Given the description of an element on the screen output the (x, y) to click on. 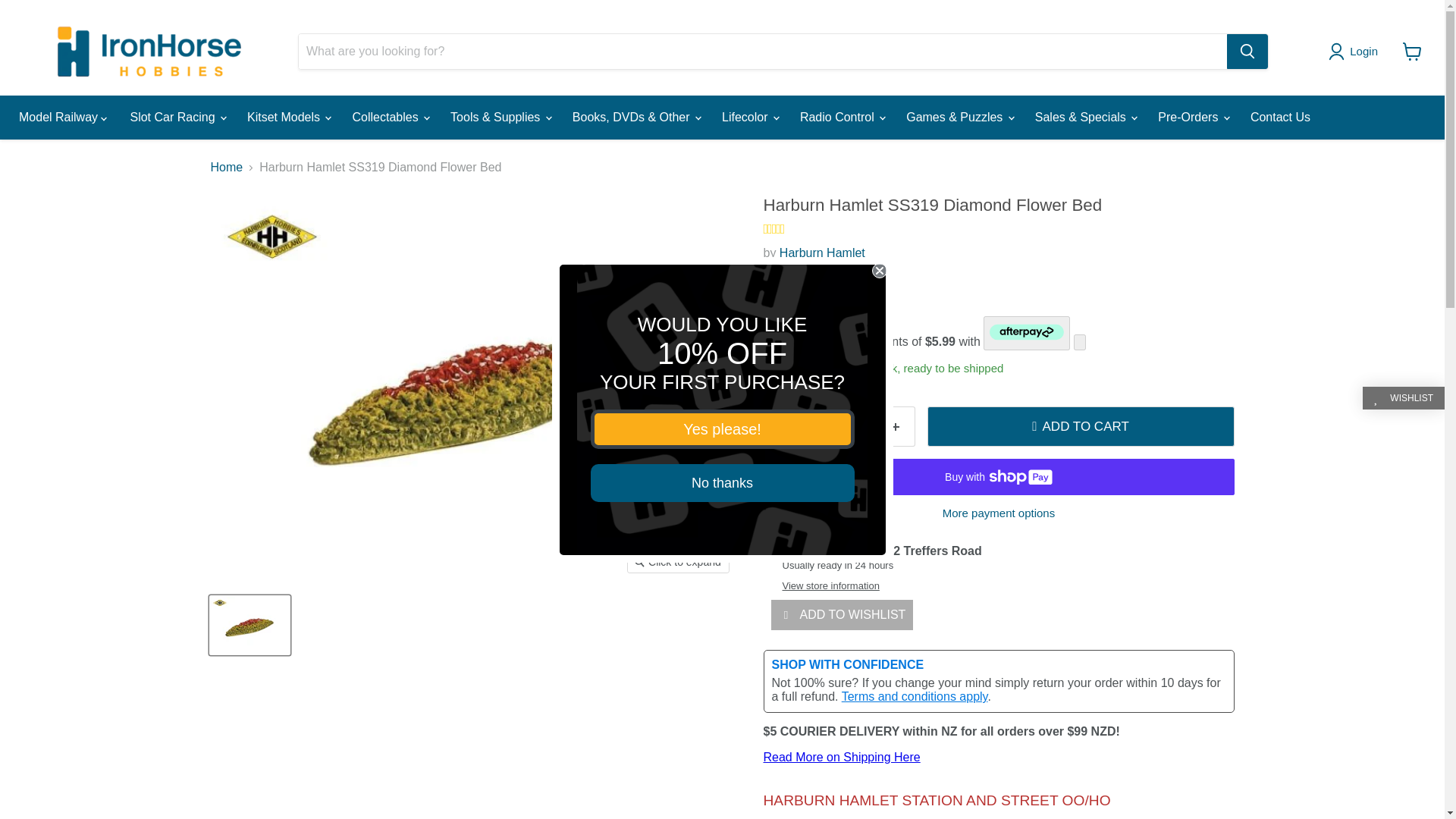
1 (839, 426)
Login (1355, 51)
Harburn Hamlet (821, 252)
View cart (1411, 51)
